Given the description of an element on the screen output the (x, y) to click on. 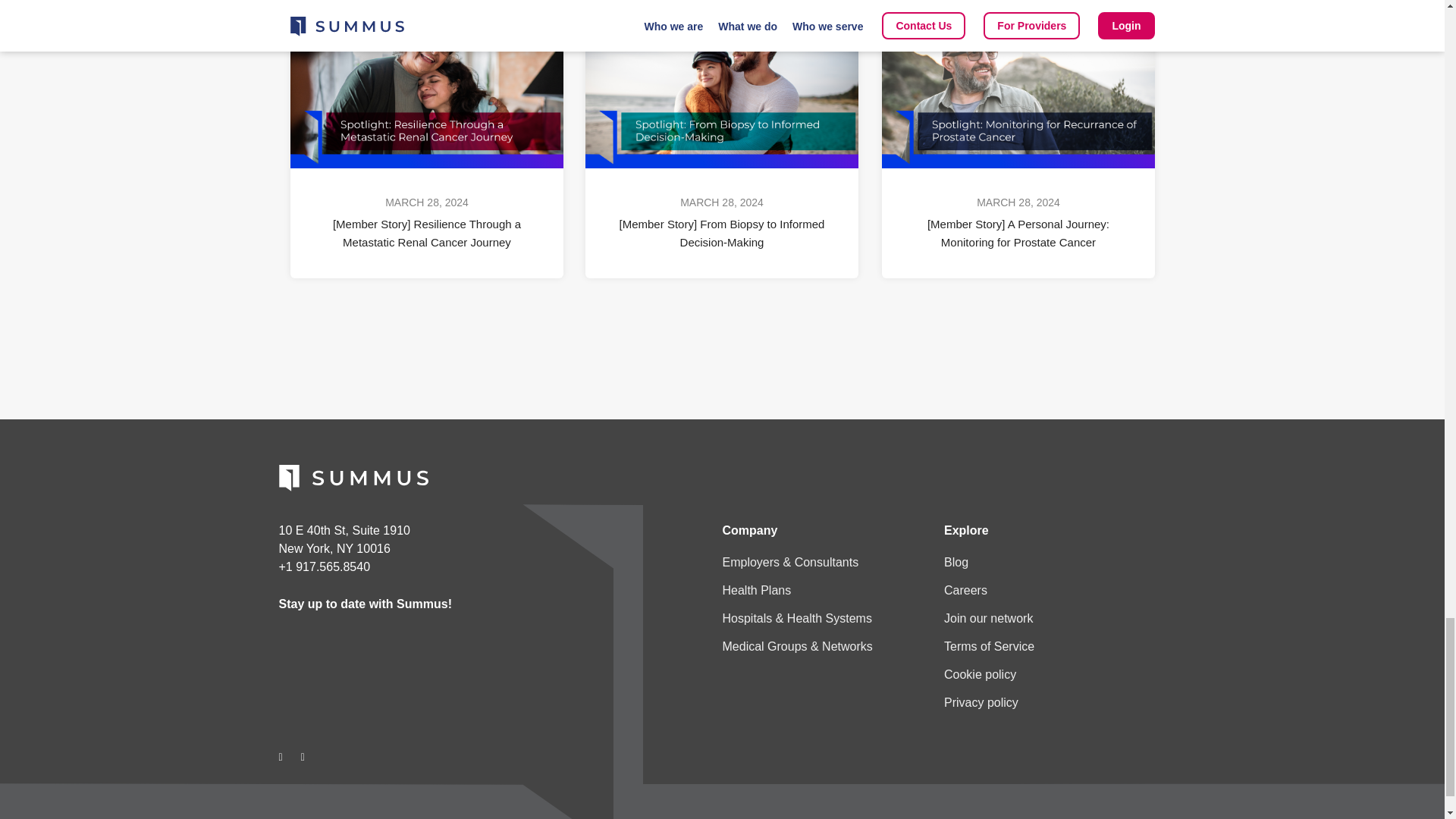
Form 0 (389, 679)
